Given the description of an element on the screen output the (x, y) to click on. 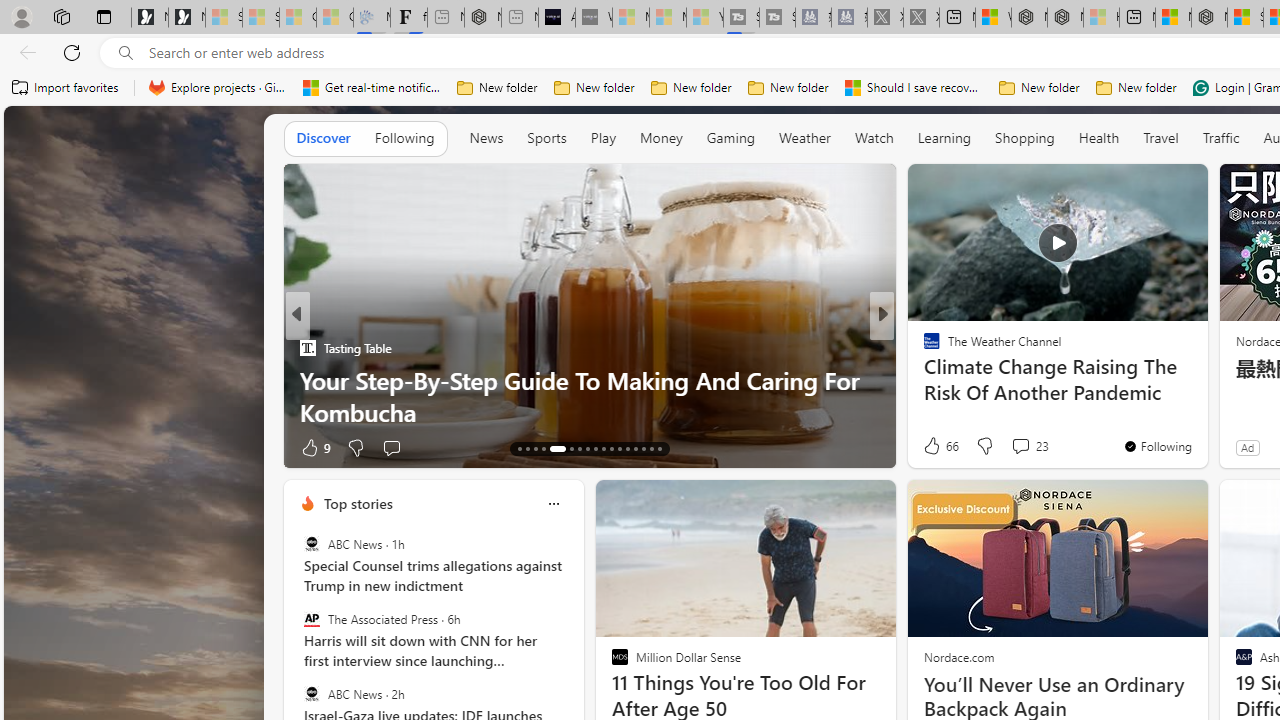
Should I save recovered Word documents? - Microsoft Support (913, 88)
AutomationID: tab-49 (635, 448)
66 Like (939, 446)
View comments 124 Comment (1032, 447)
View comments 50 Comment (1013, 447)
